Given the description of an element on the screen output the (x, y) to click on. 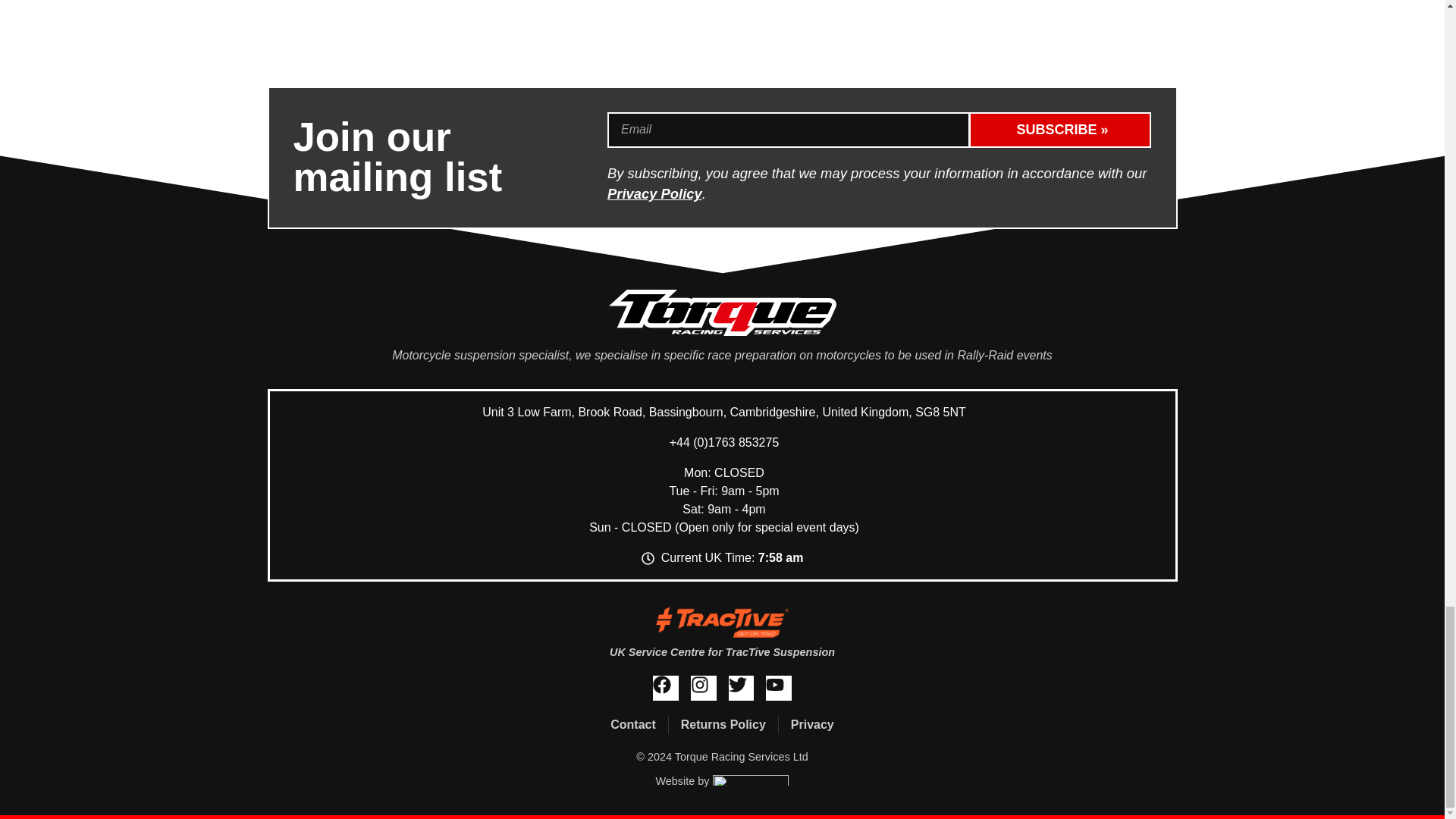
Contact (633, 724)
Privacy Policy (654, 193)
Privacy (812, 724)
Returns Policy (723, 724)
